Given the description of an element on the screen output the (x, y) to click on. 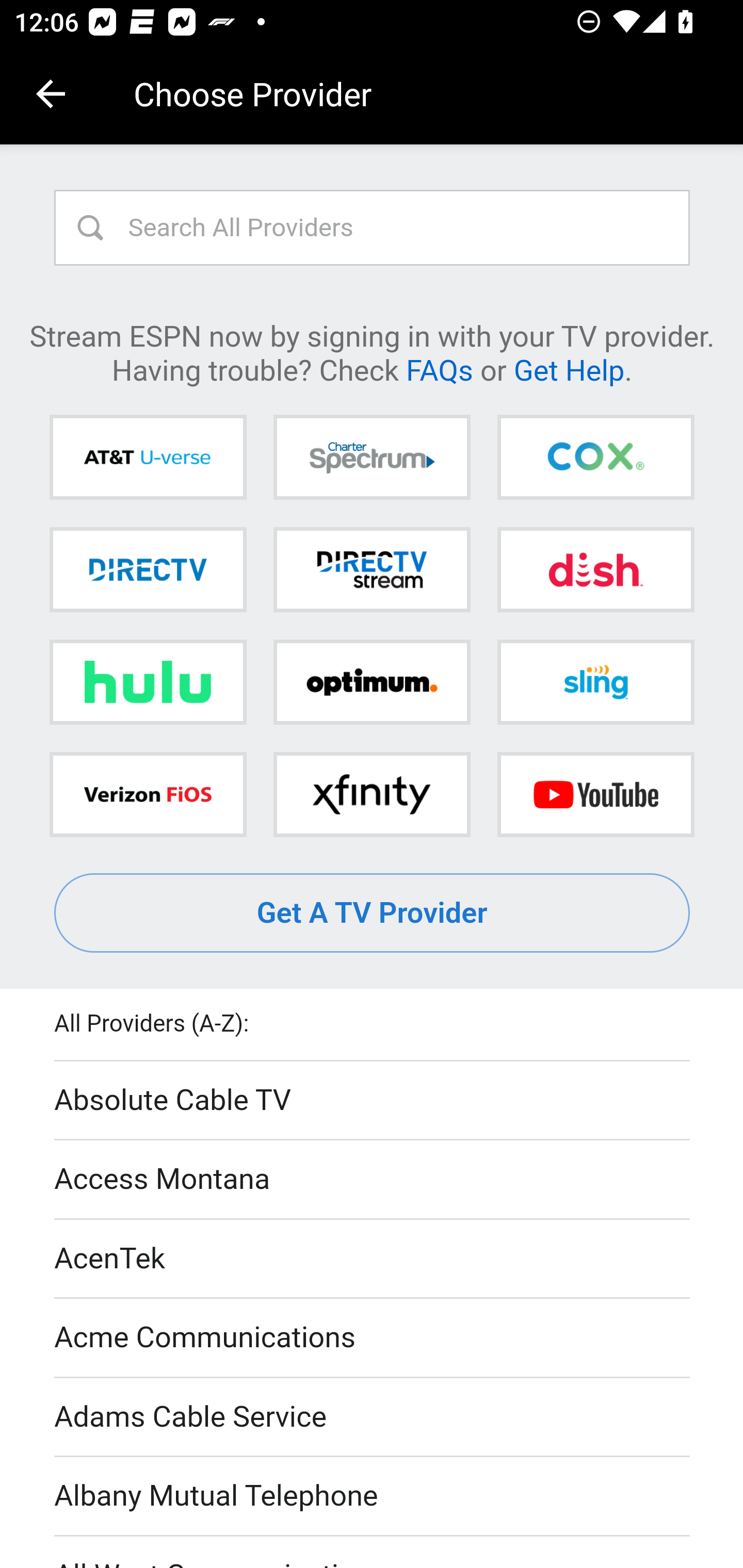
Navigate up (50, 93)
FAQs (438, 369)
Get Help (569, 369)
AT&T U-verse (147, 457)
Charter Spectrum (371, 457)
Cox (595, 457)
DIRECTV (147, 568)
DIRECTV STREAM (371, 568)
DISH (595, 568)
Hulu (147, 681)
Optimum (371, 681)
Sling TV (595, 681)
Verizon FiOS (147, 793)
Xfinity (371, 793)
YouTube TV (595, 793)
Get A TV Provider (372, 912)
Absolute Cable TV (372, 1100)
Access Montana (372, 1178)
AcenTek (372, 1258)
Acme Communications (372, 1338)
Adams Cable Service (372, 1417)
Albany Mutual Telephone (372, 1497)
